Given the description of an element on the screen output the (x, y) to click on. 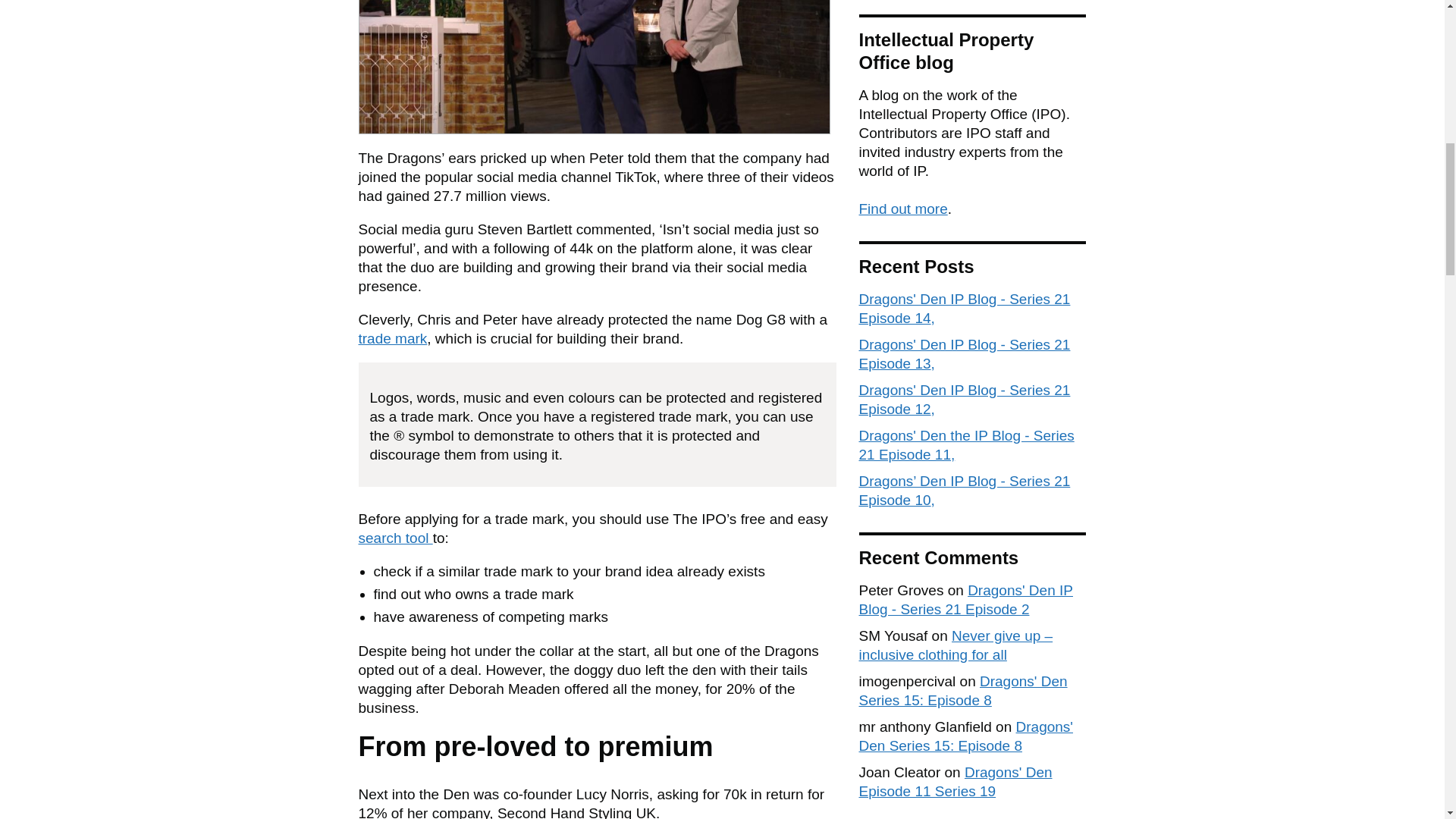
Find out more (903, 208)
search tool (395, 537)
trade mark (392, 338)
Dragons' Den IP Blog - Series 21 Episode 14 (964, 308)
